Given the description of an element on the screen output the (x, y) to click on. 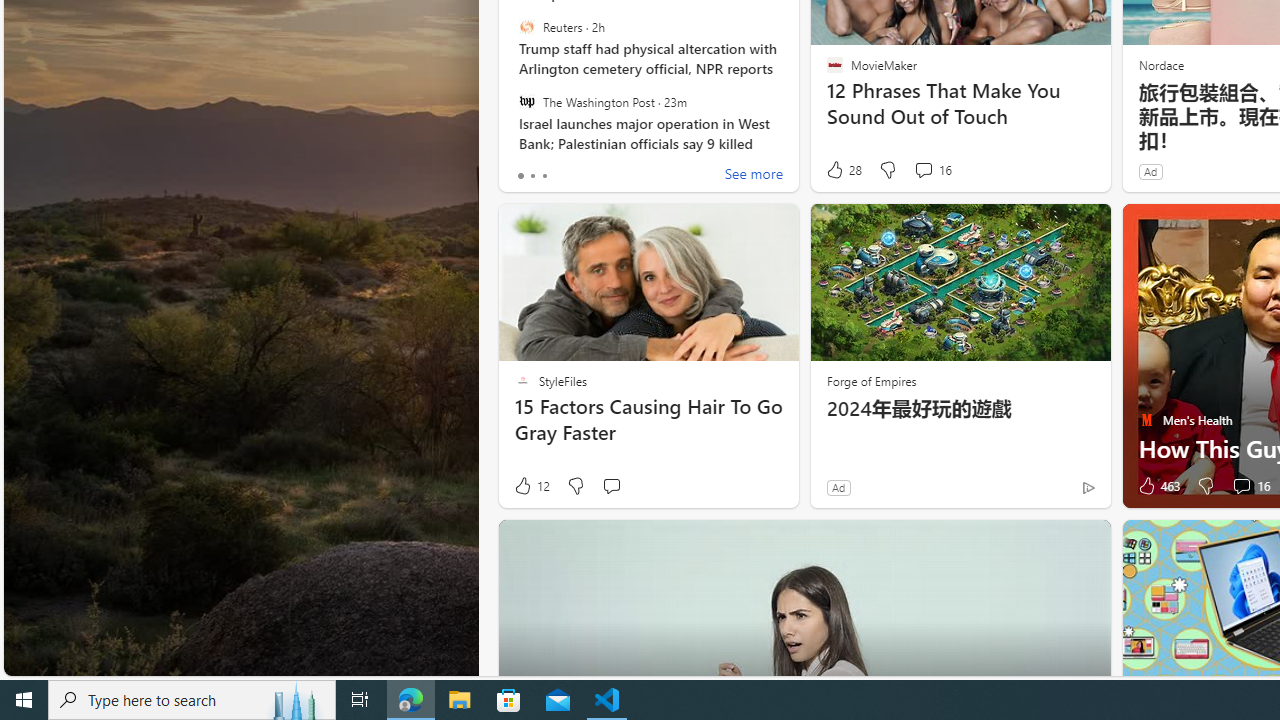
View comments 16 Comment (1241, 485)
See more (753, 175)
tab-1 (532, 175)
tab-0 (520, 175)
View comments 16 Comment (1249, 485)
Start the conversation (611, 485)
